Given the description of an element on the screen output the (x, y) to click on. 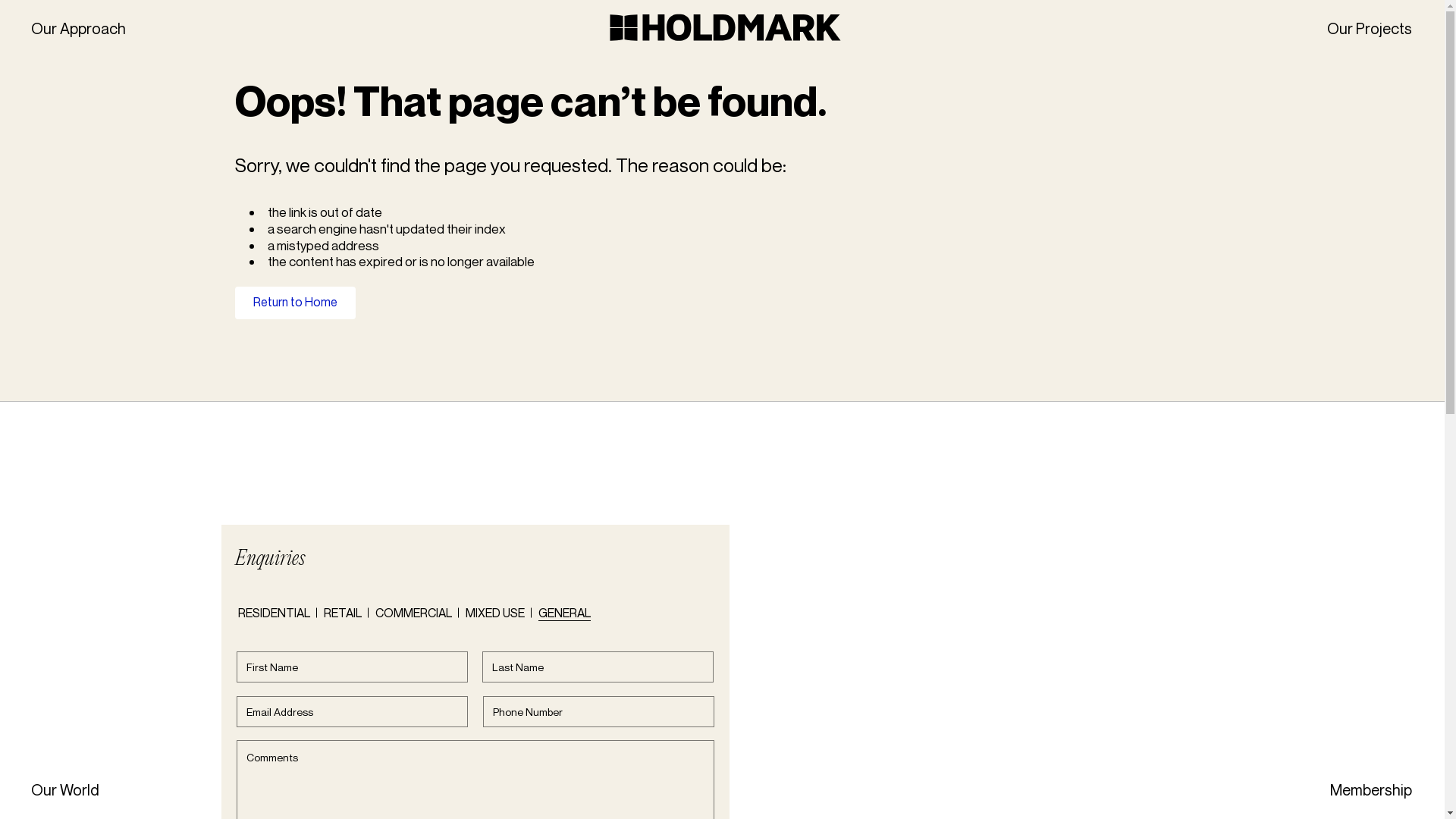
Our Projects Element type: text (1369, 27)
Return to Home Element type: text (295, 302)
Skip to content Element type: text (0, 0)
Our Approach Element type: text (77, 27)
Membership Element type: text (1371, 789)
Our World Element type: text (64, 789)
